Given the description of an element on the screen output the (x, y) to click on. 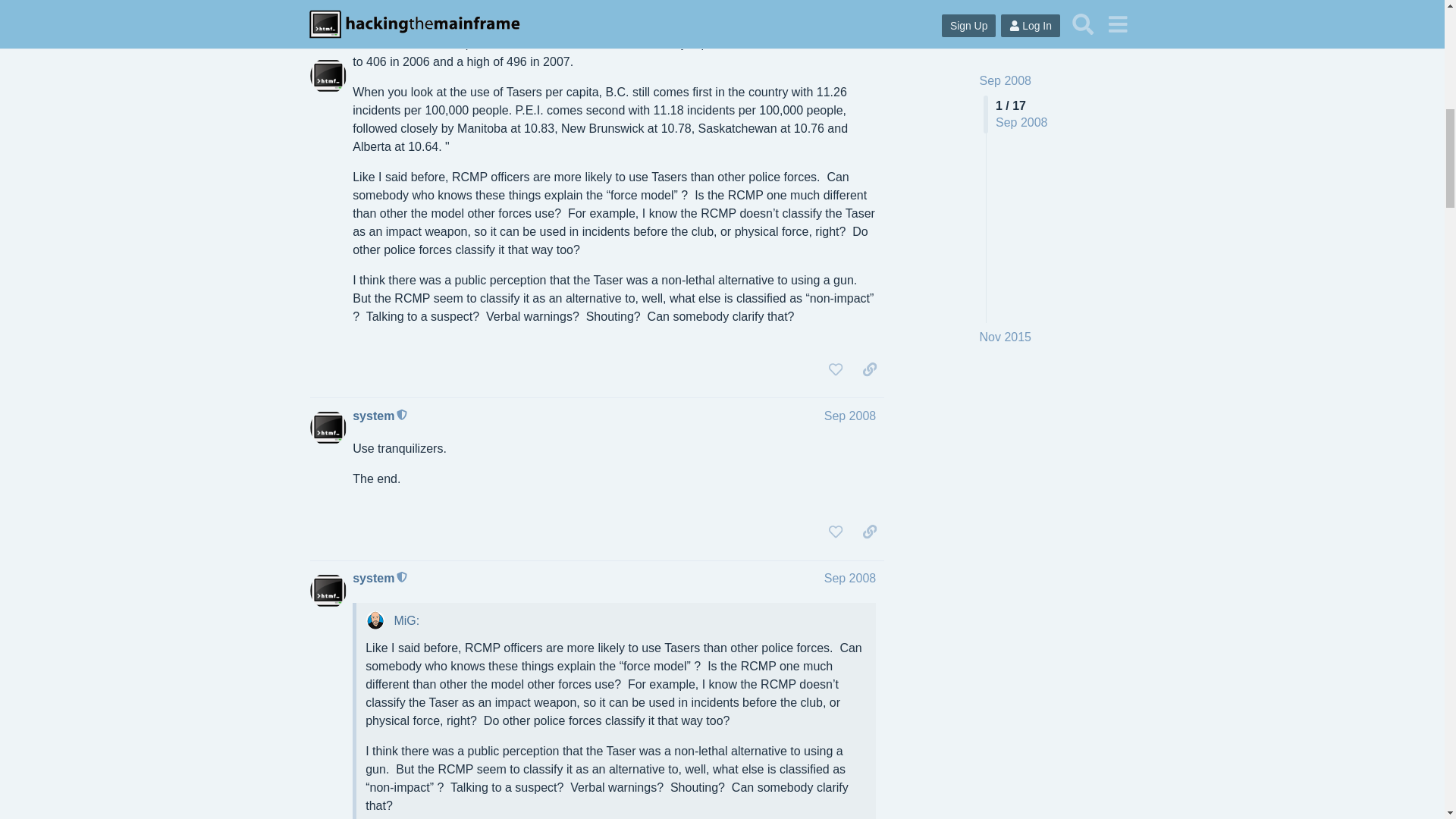
Sep 2008 (850, 577)
Sep 2008 (850, 415)
system (373, 416)
system (373, 578)
